Given the description of an element on the screen output the (x, y) to click on. 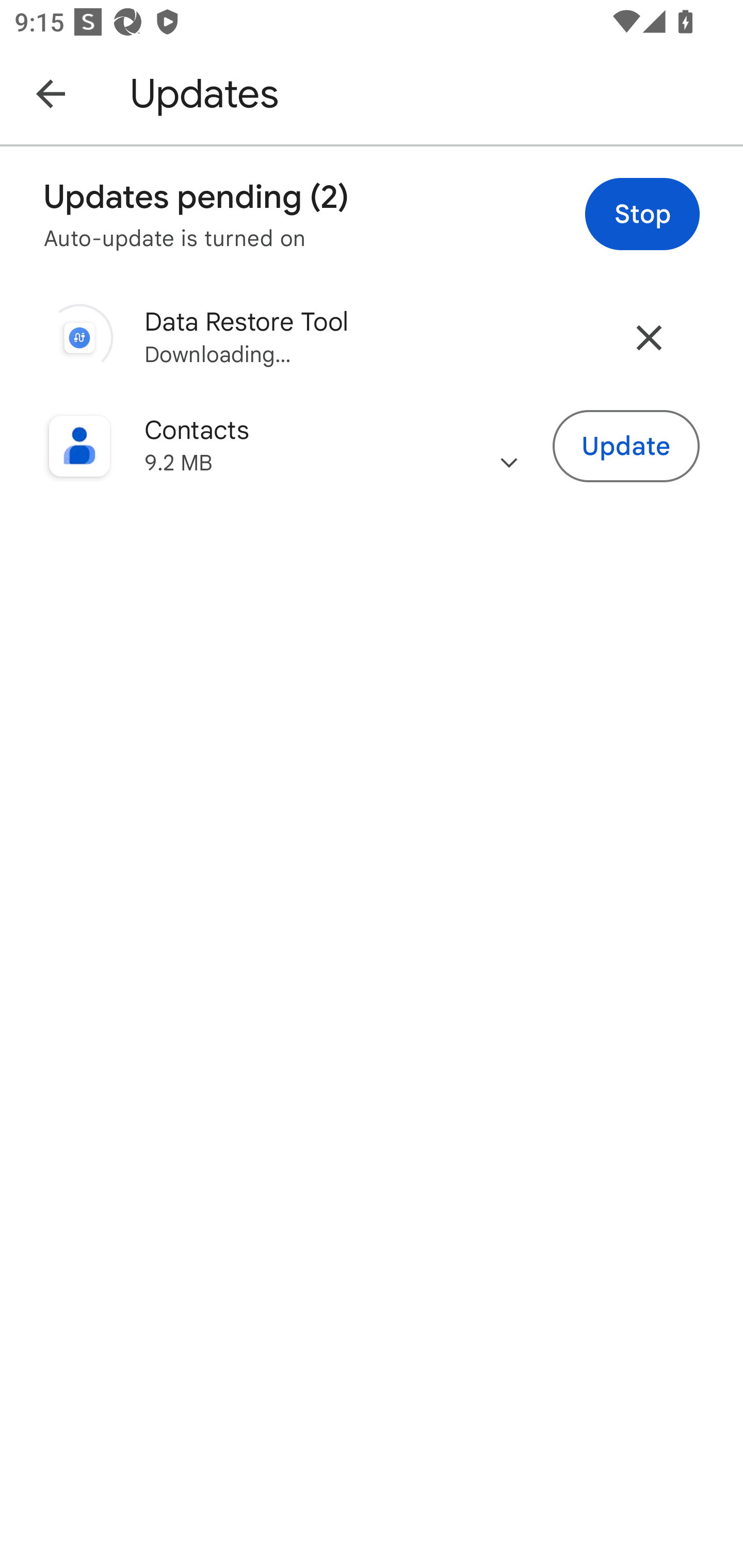
Navigate up (50, 92)
Stop (642, 213)
Cancel (648, 337)
Changes in the app (508, 446)
Update (625, 446)
